Given the description of an element on the screen output the (x, y) to click on. 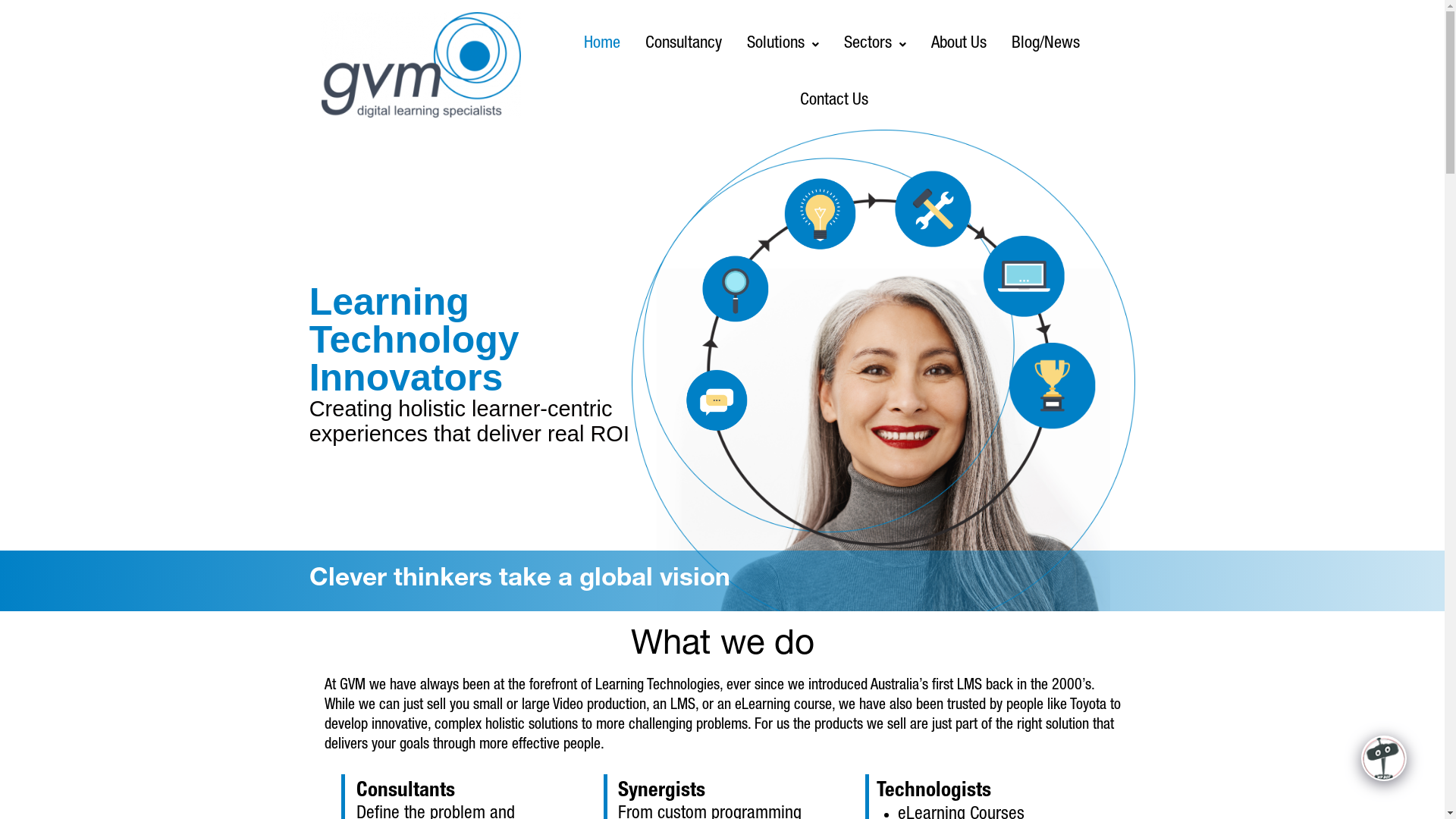
Blog/News Element type: text (1045, 43)
About Us Element type: text (958, 43)
Consultancy Element type: text (683, 43)
Home Element type: text (601, 43)
Solutions Element type: text (782, 43)
Sectors Element type: text (874, 43)
Contact Us Element type: text (833, 100)
